Given the description of an element on the screen output the (x, y) to click on. 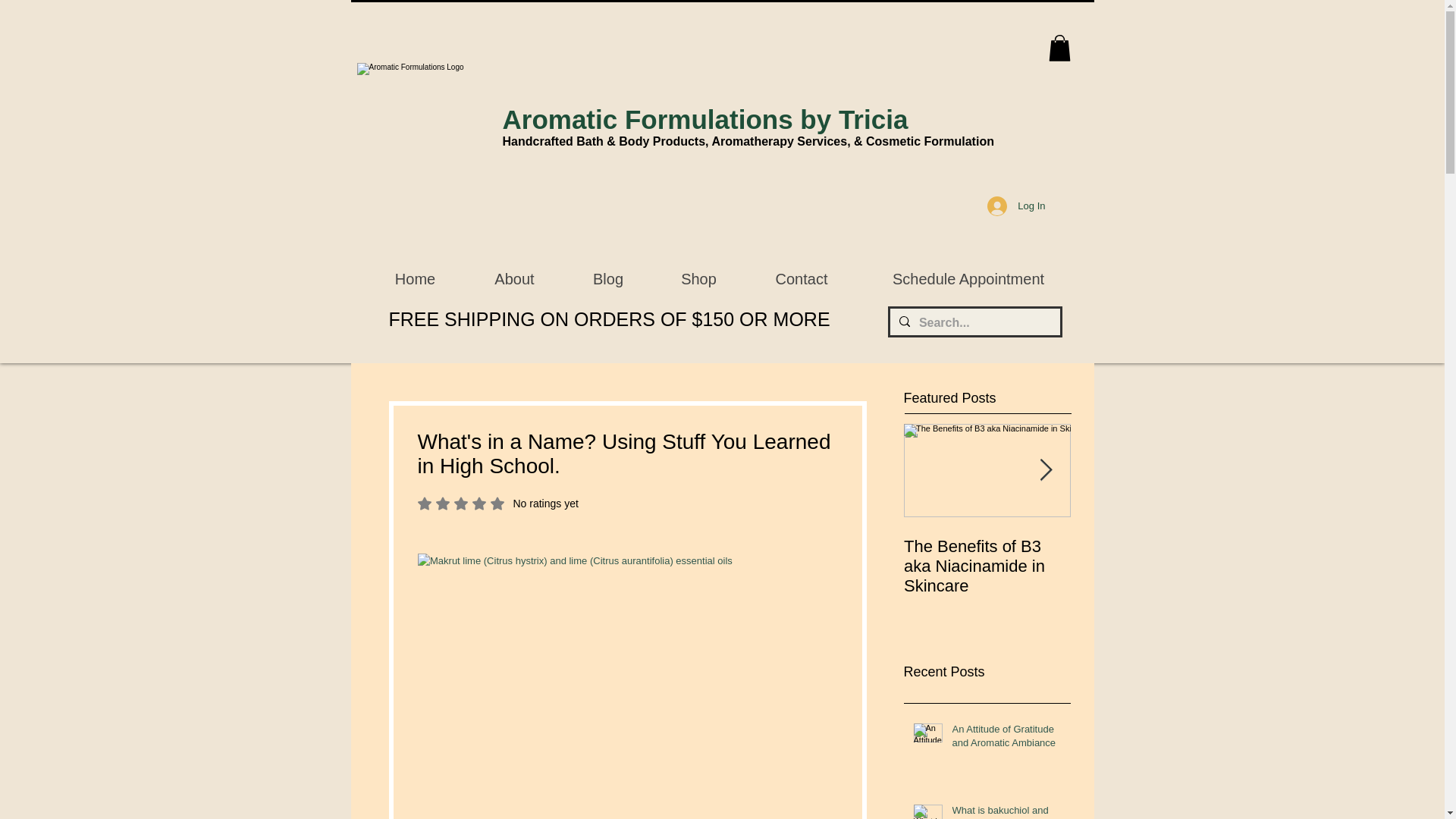
Aromatic Formulations by Tricia (497, 503)
Schedule Appointment (704, 119)
About (967, 279)
Home (513, 279)
What is bakuchiol and what is it doing my skincare? (414, 279)
Blog (1006, 811)
The Benefits of B3 aka Niacinamide in Skincare (608, 279)
Contact (987, 566)
An Attitude of Gratitude and Aromatic Ambiance (800, 279)
